Given the description of an element on the screen output the (x, y) to click on. 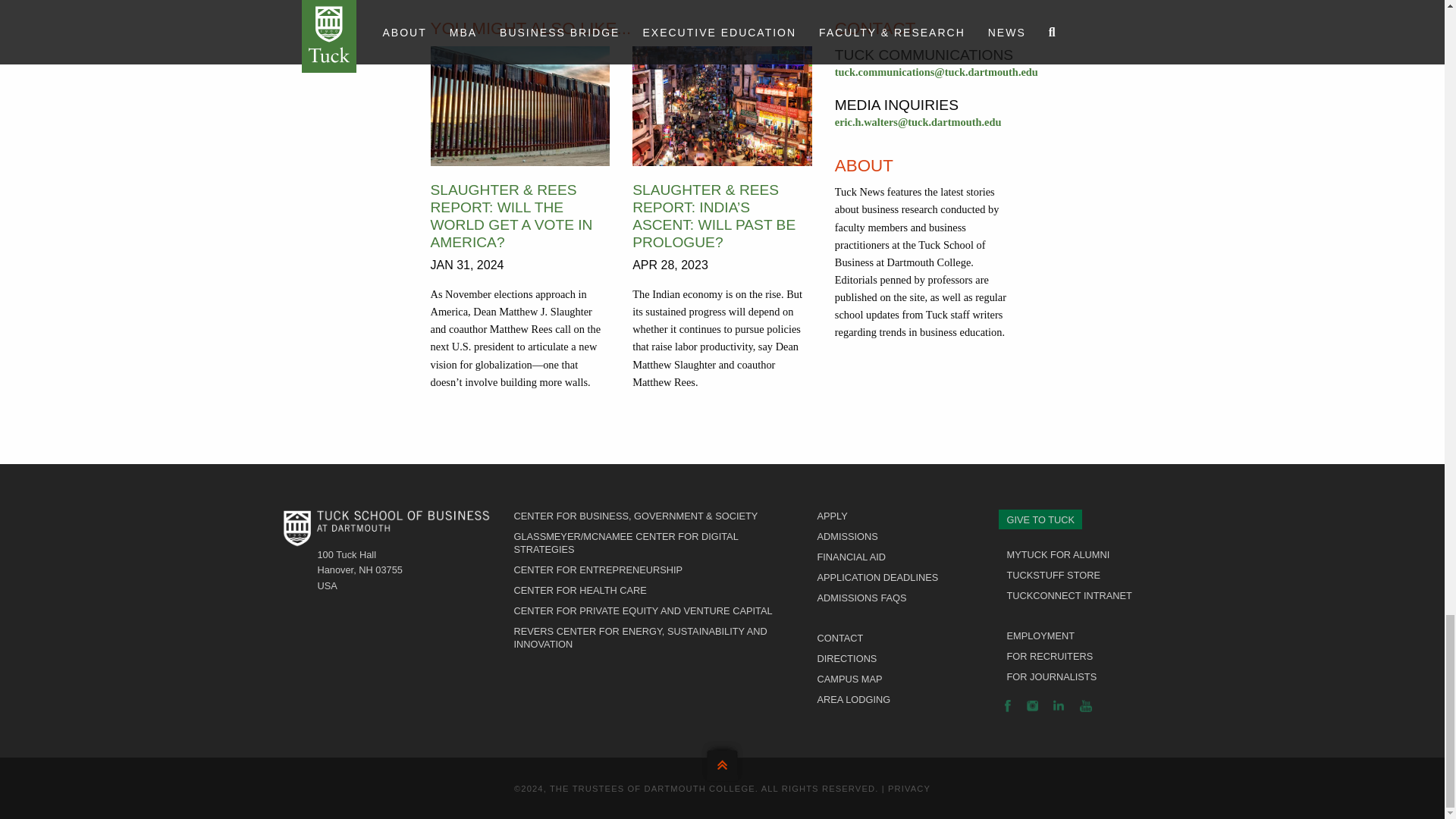
Visit our Instagram page (1032, 705)
Scroll up (721, 761)
Visit our YouTube page (1086, 705)
